Given the description of an element on the screen output the (x, y) to click on. 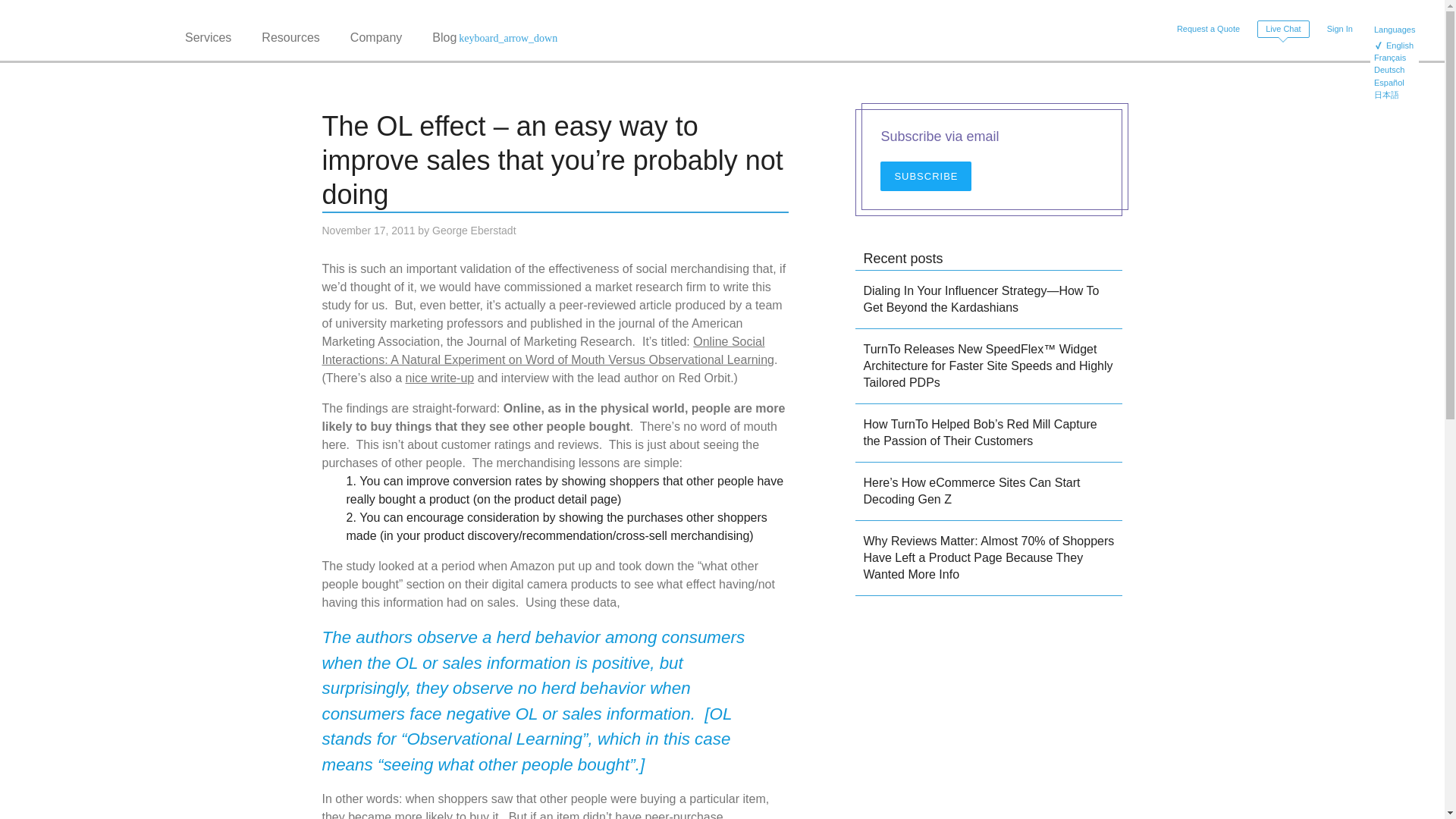
Request a Quote (1208, 29)
English (1394, 46)
Sign In (1339, 29)
nice write-up (439, 377)
Deutsch (1394, 70)
SUBSCRIBE (925, 175)
Live Chat (1282, 28)
TurnTo (95, 29)
